Given the description of an element on the screen output the (x, y) to click on. 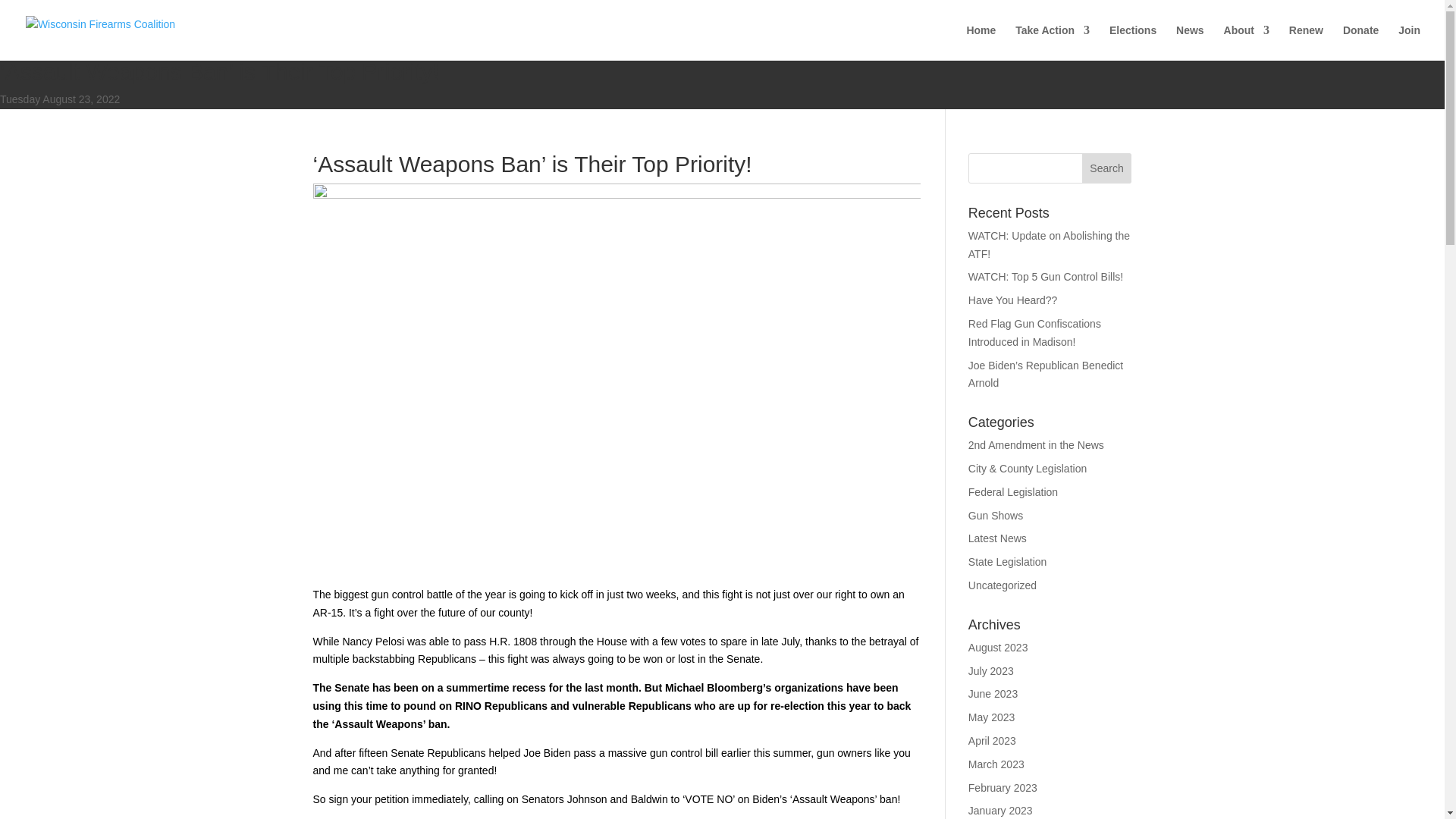
WATCH: Top 5 Gun Control Bills! (1045, 276)
Search (1106, 168)
Search (1106, 168)
Take Action (1051, 42)
State Legislation (1007, 562)
WATCH: Update on Abolishing the ATF! (1048, 245)
Gun Shows (995, 515)
Renew (1305, 42)
June 2023 (992, 693)
Have You Heard?? (1013, 300)
Uncategorized (1002, 585)
Red Flag Gun Confiscations Introduced in Madison! (1034, 332)
July 2023 (990, 671)
2nd Amendment in the News (1035, 444)
Donate (1360, 42)
